Given the description of an element on the screen output the (x, y) to click on. 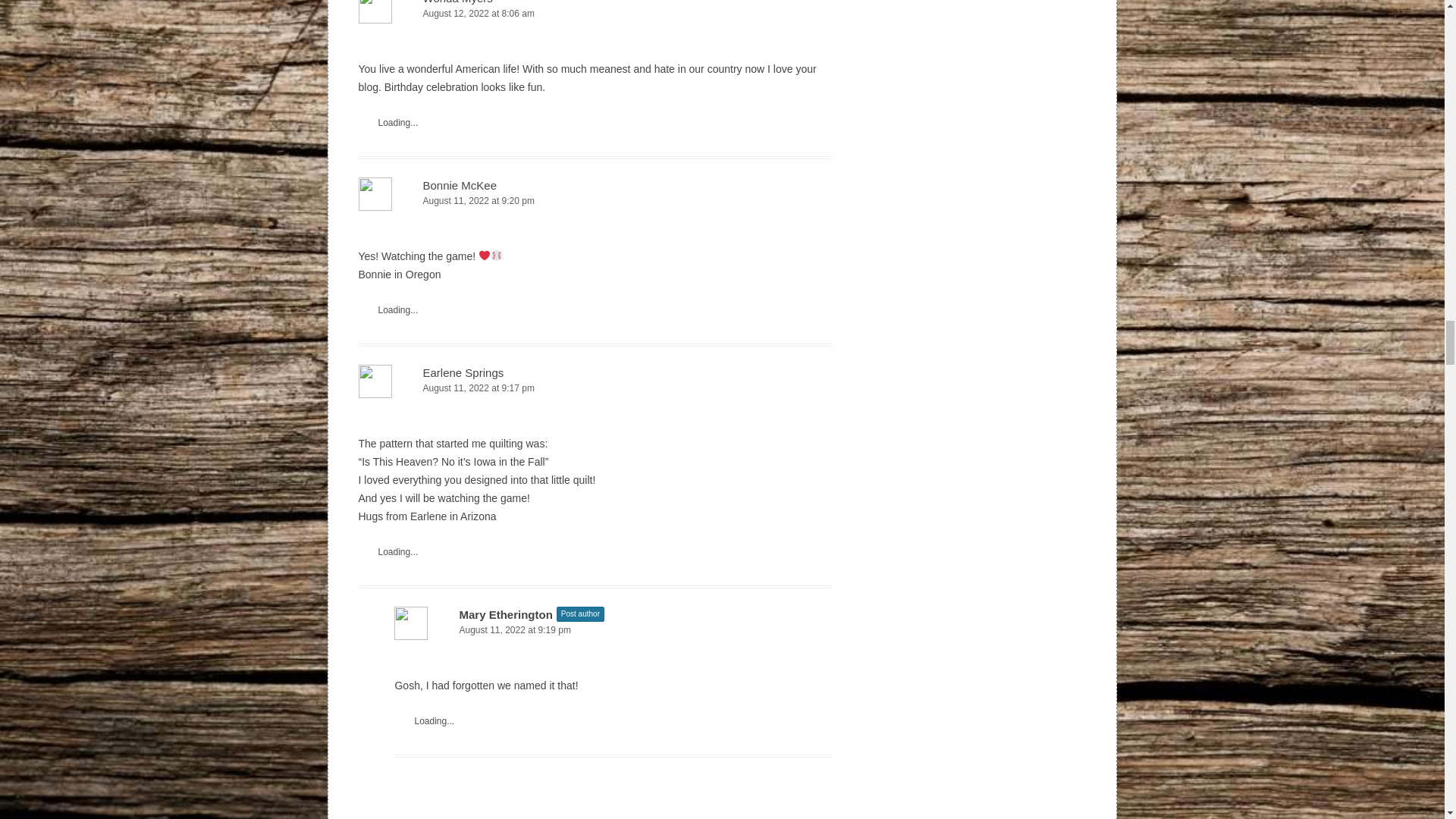
August 11, 2022 at 9:19 pm (612, 630)
August 11, 2022 at 9:17 pm (594, 388)
August 12, 2022 at 8:06 am (594, 13)
August 11, 2022 at 9:20 pm (594, 201)
